Given the description of an element on the screen output the (x, y) to click on. 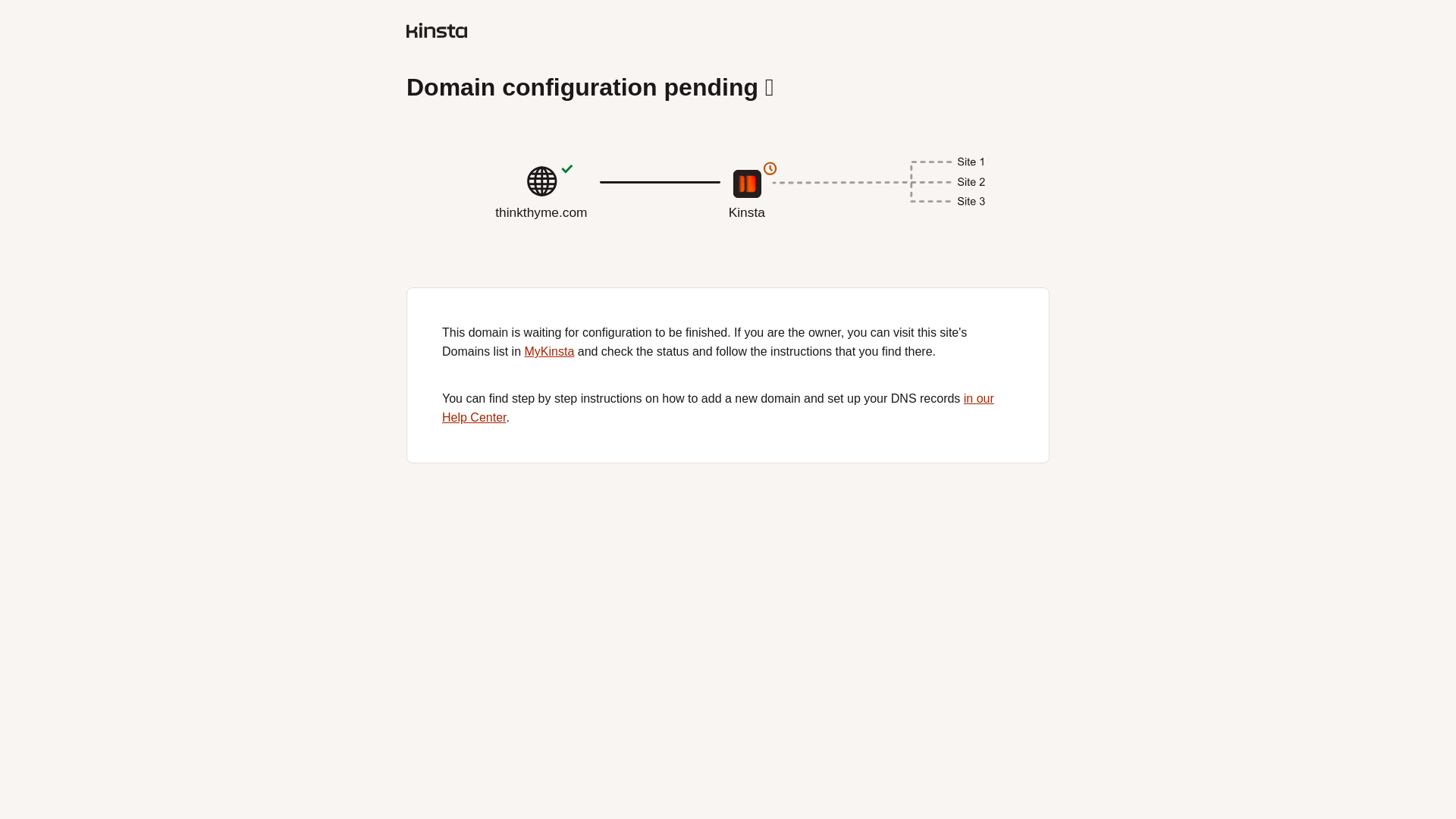
MyKinsta (548, 350)
in our Help Center (727, 218)
